Given the description of an element on the screen output the (x, y) to click on. 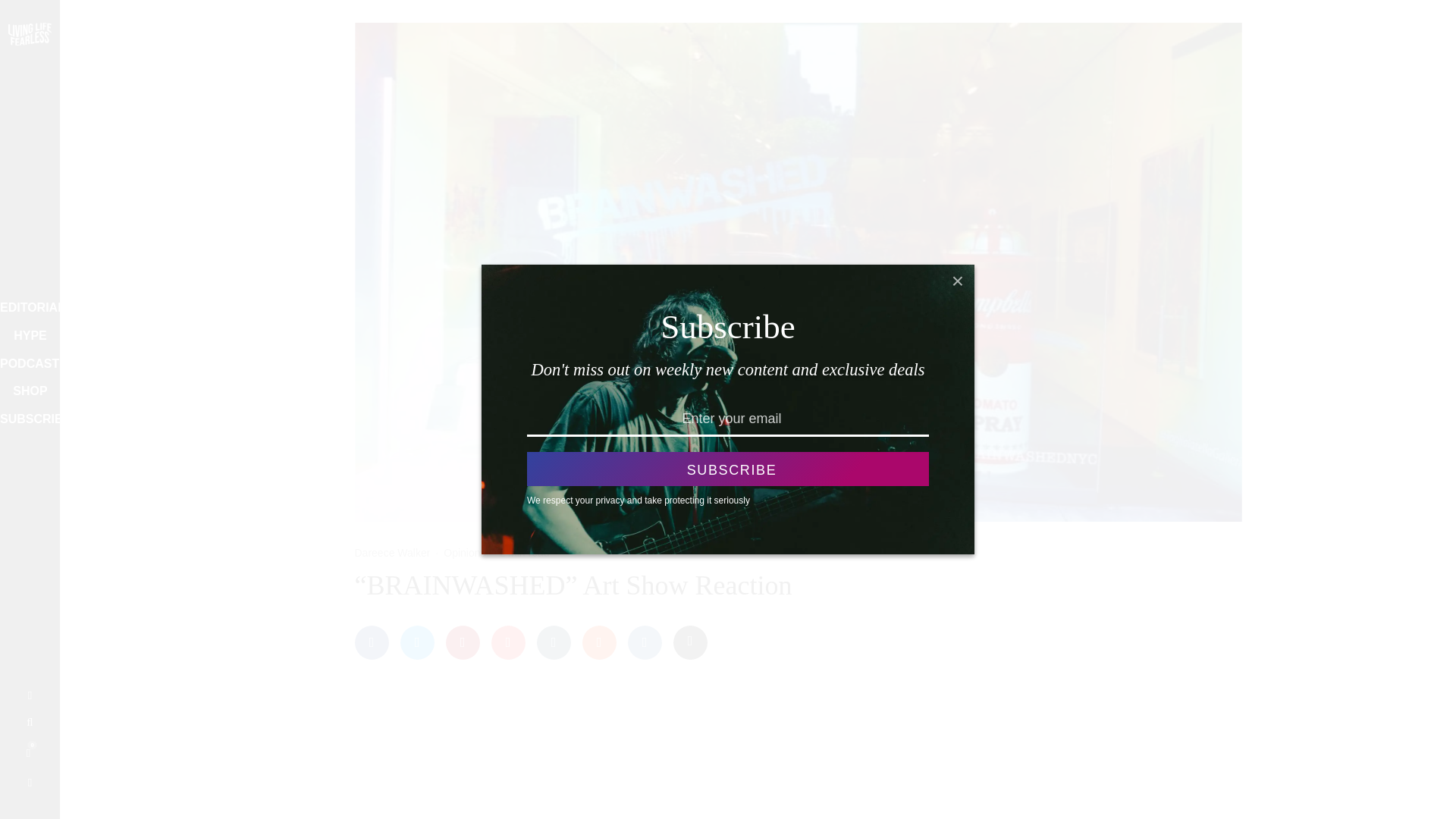
Dareece Walker (392, 552)
Subscribe (727, 469)
Opinions (464, 552)
Subscribe (727, 469)
SUBSCRIBE! (24, 419)
